Given the description of an element on the screen output the (x, y) to click on. 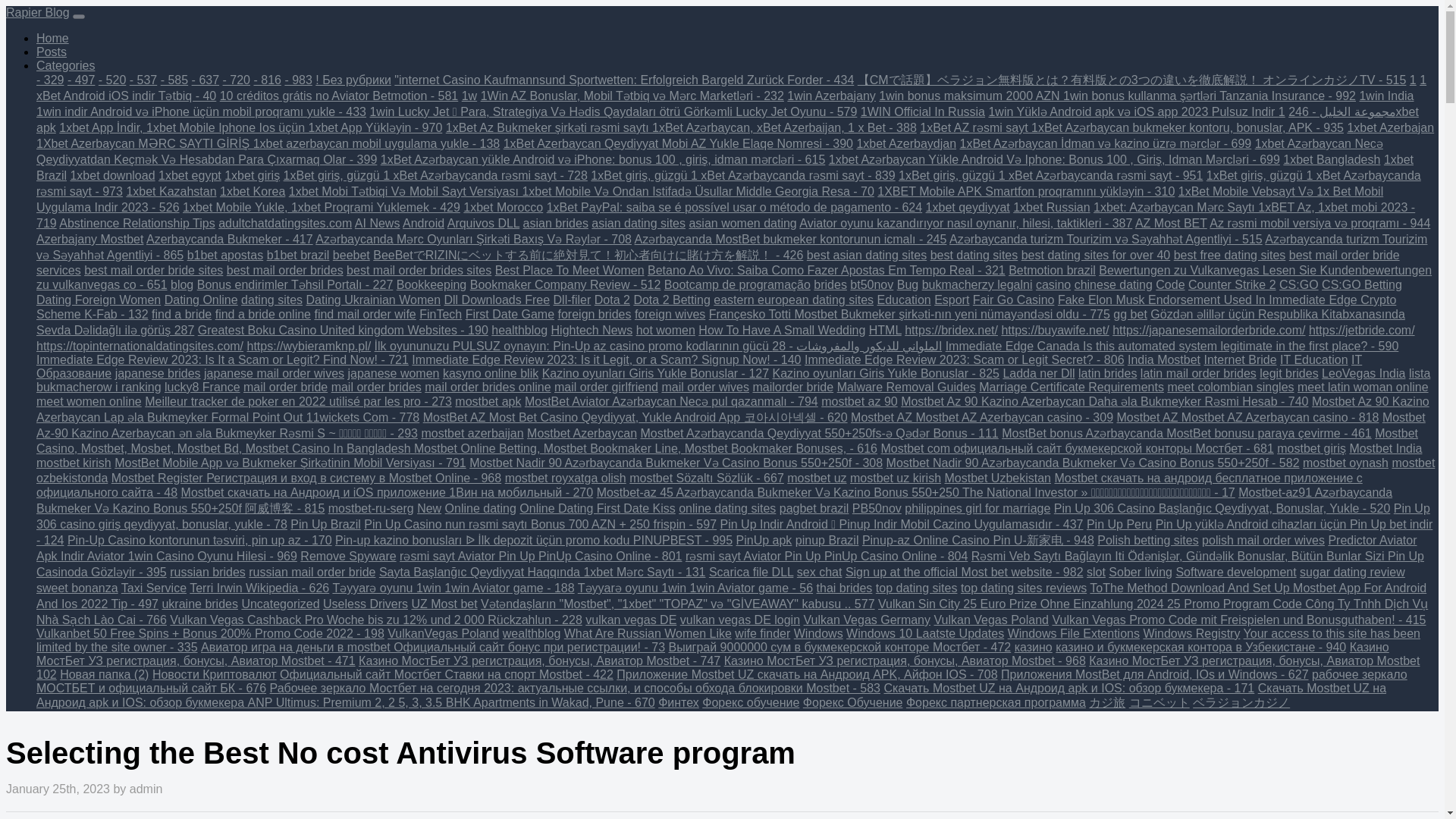
1WIN Official In Russia (922, 111)
- 720 (236, 79)
- 537 (143, 79)
Categories (65, 65)
1w (469, 95)
- 497 (80, 79)
- 816 (267, 79)
1win India (1385, 95)
1xbet apk (727, 119)
- 520 (112, 79)
- 585 (173, 79)
1xbet Azerbaydjan (906, 143)
- 329 (50, 79)
1xBet Azerbaycan Qeydiyyat Mobi AZ Yukle Elaqe Nomresi - 390 (678, 143)
- 637 (205, 79)
